Given the description of an element on the screen output the (x, y) to click on. 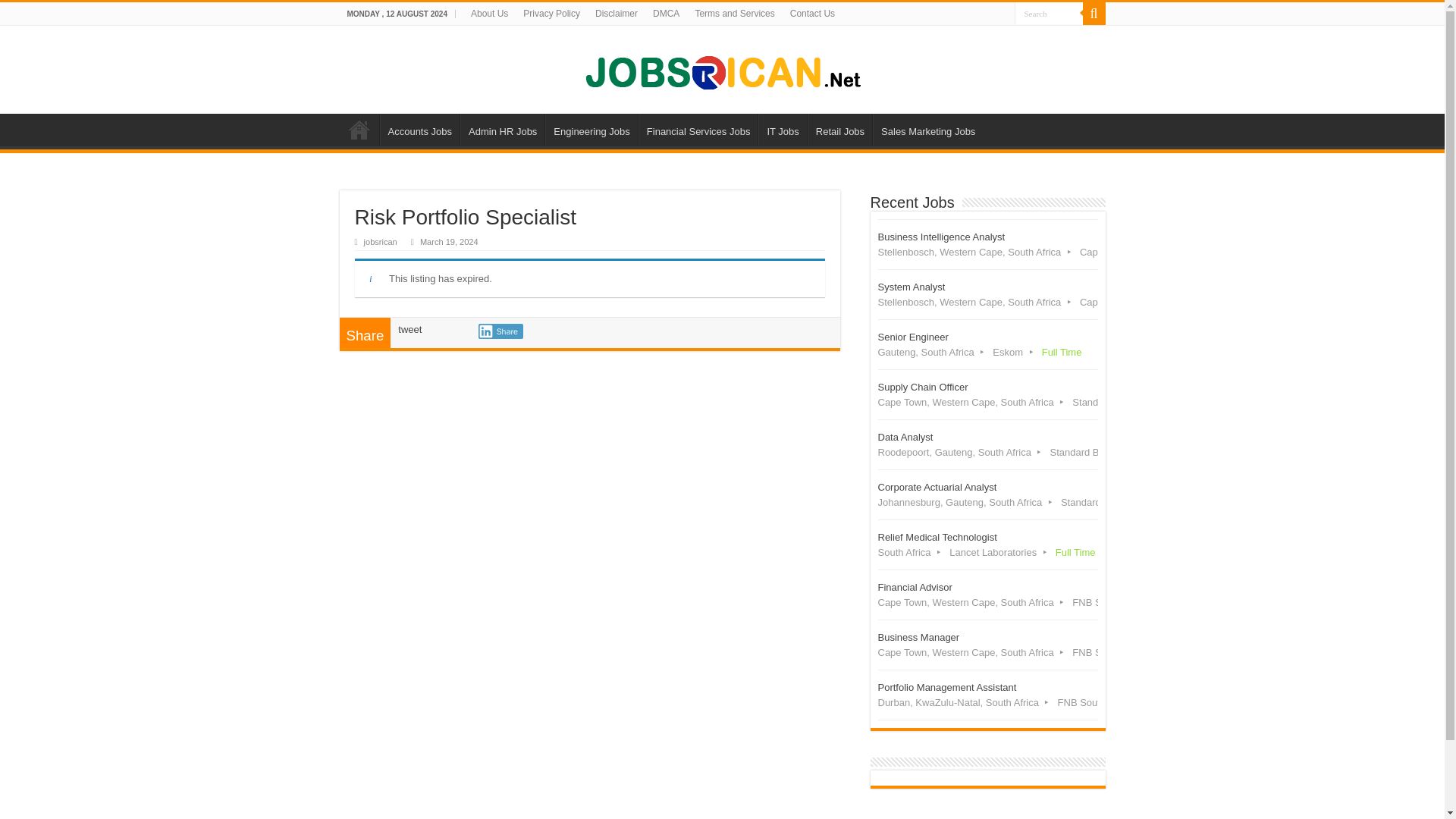
Disclaimer (987, 344)
Search (616, 13)
About Us (1048, 13)
Search (489, 13)
Admin HR Jobs (1048, 13)
DMCA (502, 129)
Accounts Jobs (666, 13)
